Given the description of an element on the screen output the (x, y) to click on. 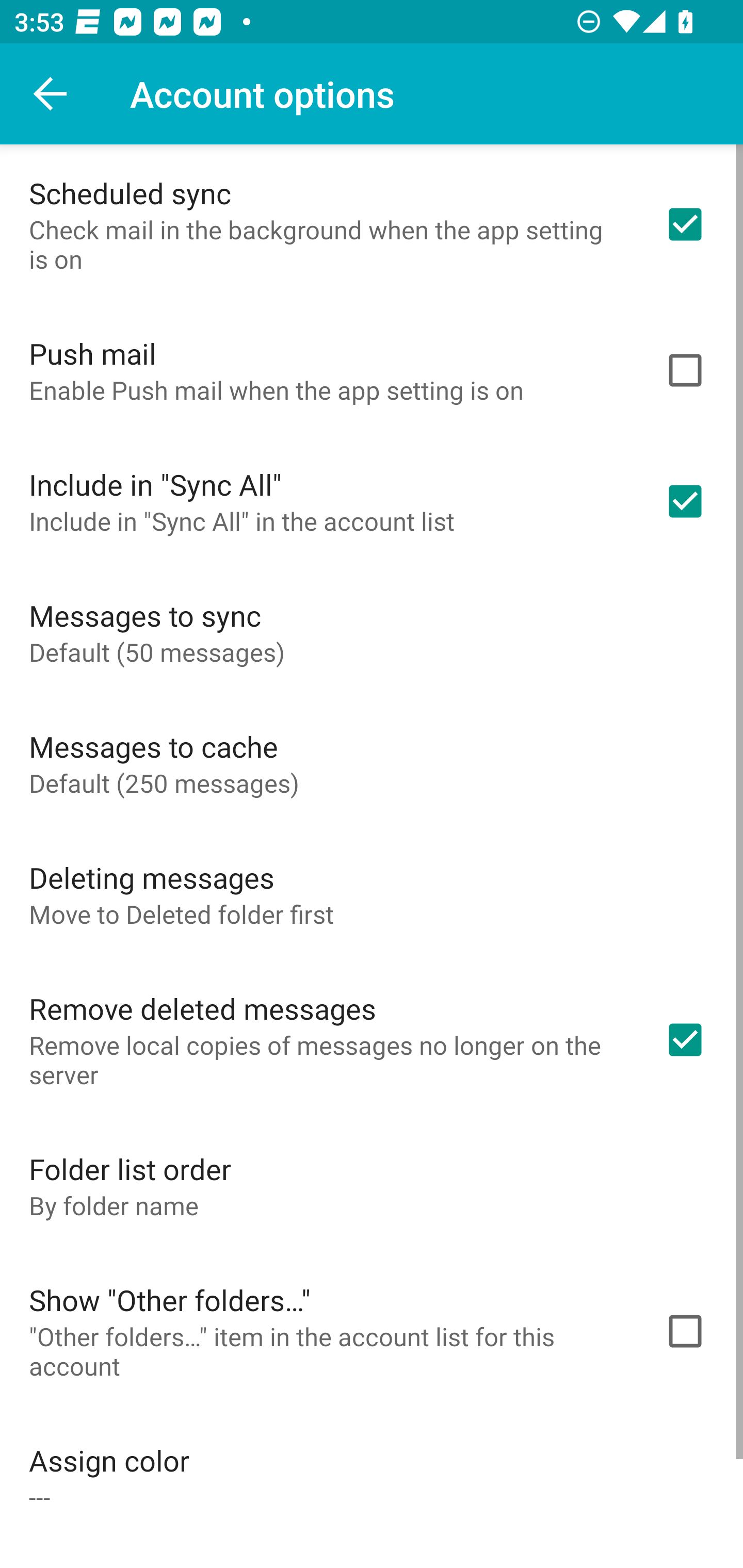
Navigate up (50, 93)
Messages to sync Default (50 messages) (371, 632)
Messages to cache Default (250 messages) (371, 763)
Deleting messages Move to Deleted folder first (371, 894)
Folder list order By folder name (371, 1185)
Assign color --- (371, 1476)
